Given the description of an element on the screen output the (x, y) to click on. 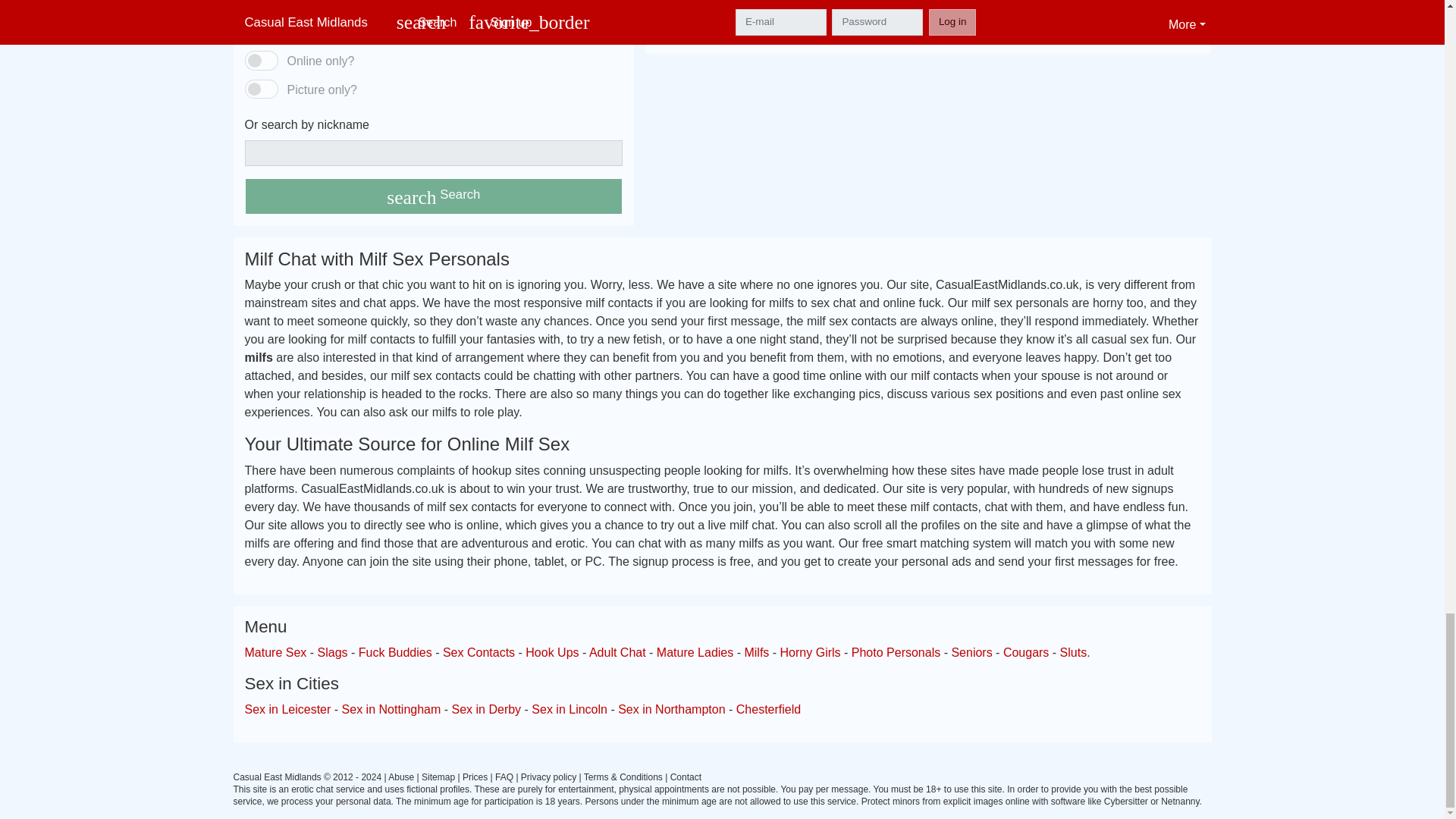
search Search (433, 196)
1 (261, 60)
1 (261, 89)
